Given the description of an element on the screen output the (x, y) to click on. 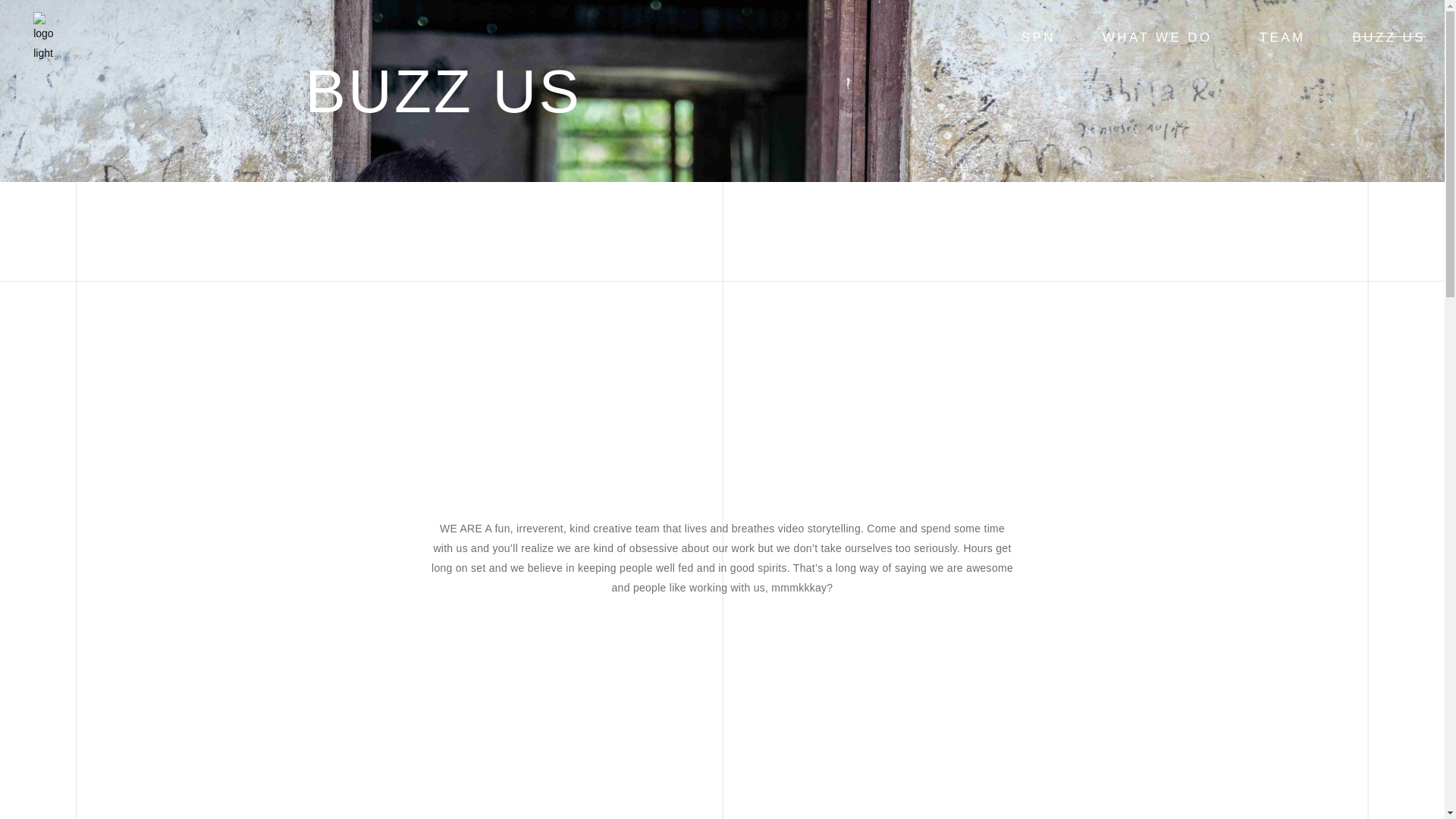
BUZZ US (1388, 38)
WHAT WE DO (1157, 38)
